Given the description of an element on the screen output the (x, y) to click on. 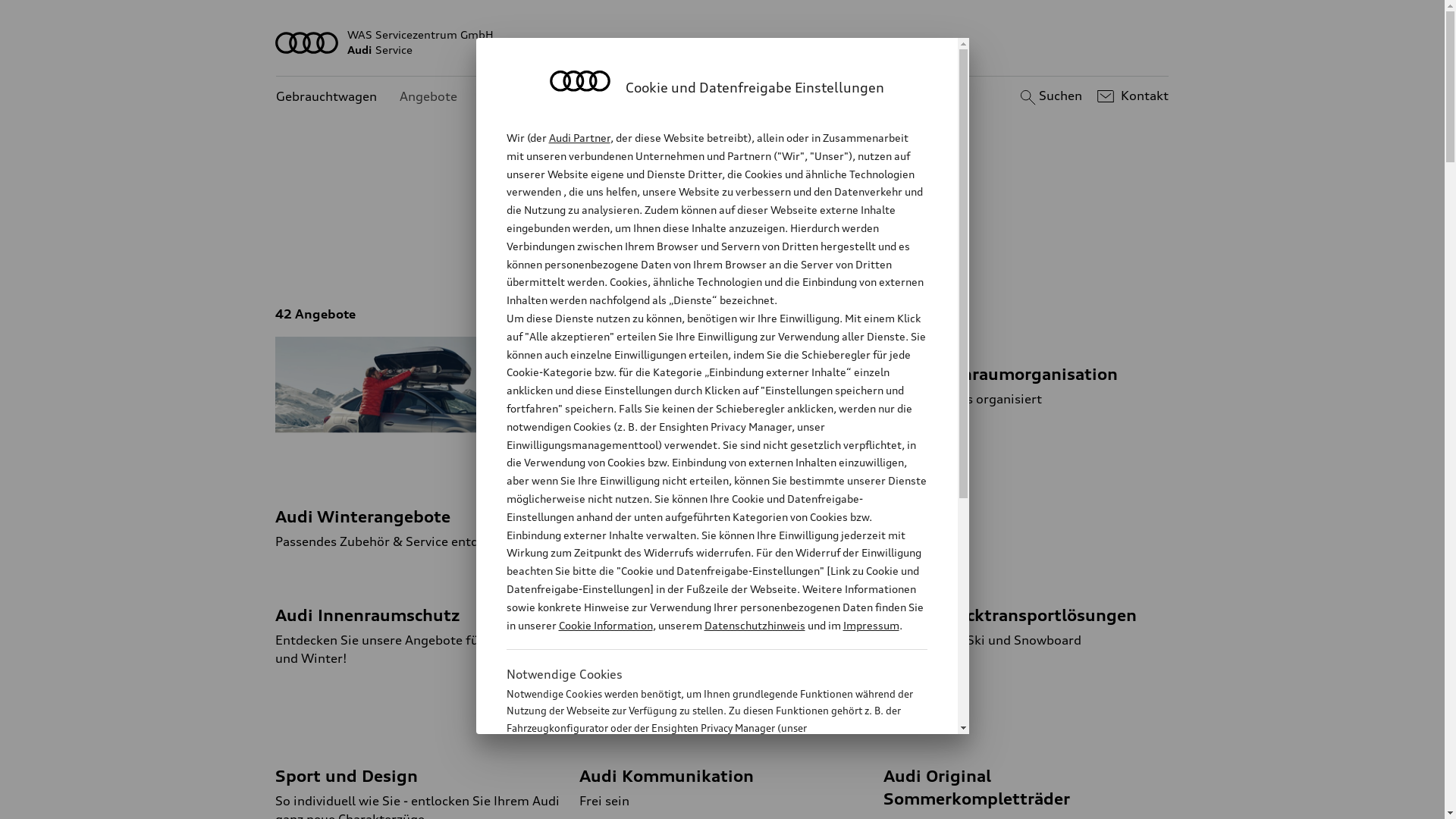
Service Element type: text (860, 250)
Kontakt Element type: text (1130, 96)
Fahrzeuge Element type: text (703, 250)
Cookie Information Element type: text (605, 624)
Audi Innenraumorganisation
Immer bestens organisiert Element type: text (1026, 371)
Angebote Element type: text (428, 96)
WAS Servicezentrum GmbH
AudiService Element type: text (722, 42)
Suchen Element type: text (1049, 96)
Gebrauchtwagen Element type: text (326, 96)
Audi Partner Element type: text (579, 137)
Audi Kommunikation
Frei sein Element type: text (722, 773)
Cookie Information Element type: text (700, 802)
Kundenservice Element type: text (523, 96)
Datenschutzhinweis Element type: text (753, 624)
Alle Angebote Element type: text (604, 250)
Impressum Element type: text (871, 624)
